Given the description of an element on the screen output the (x, y) to click on. 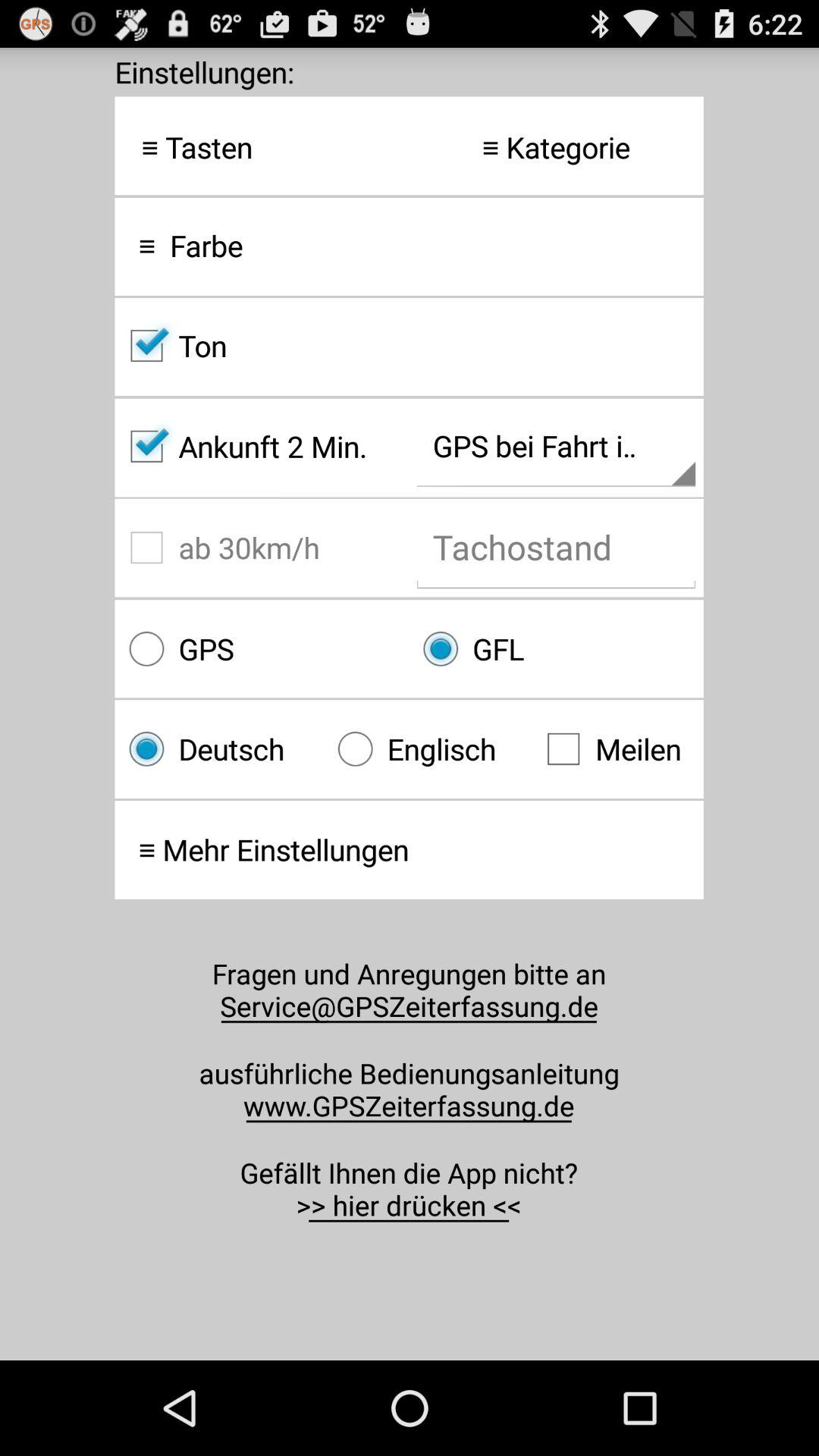
press the icon above gps radio button (261, 547)
